Given the description of an element on the screen output the (x, y) to click on. 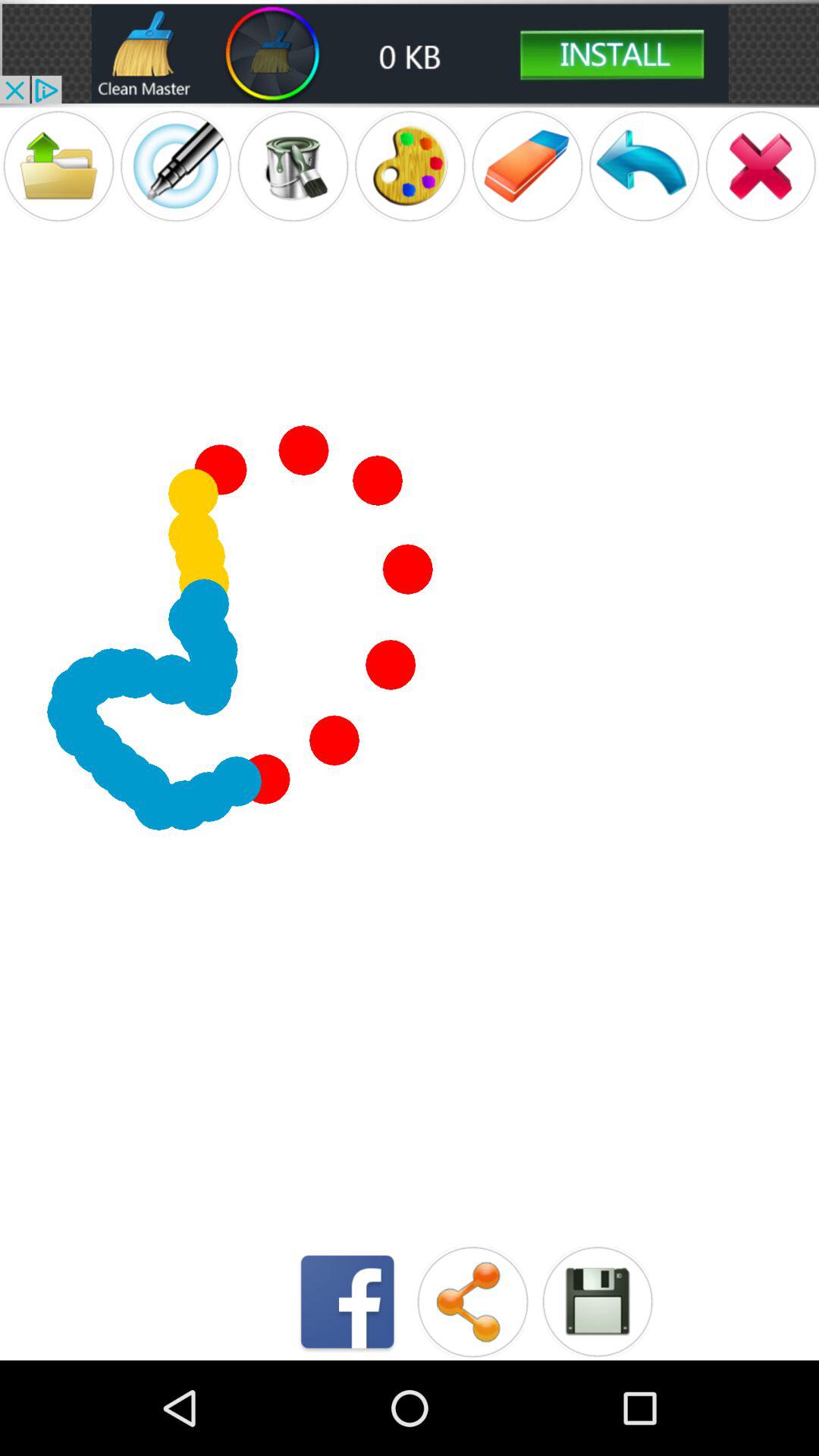
share creation (472, 1301)
